Given the description of an element on the screen output the (x, y) to click on. 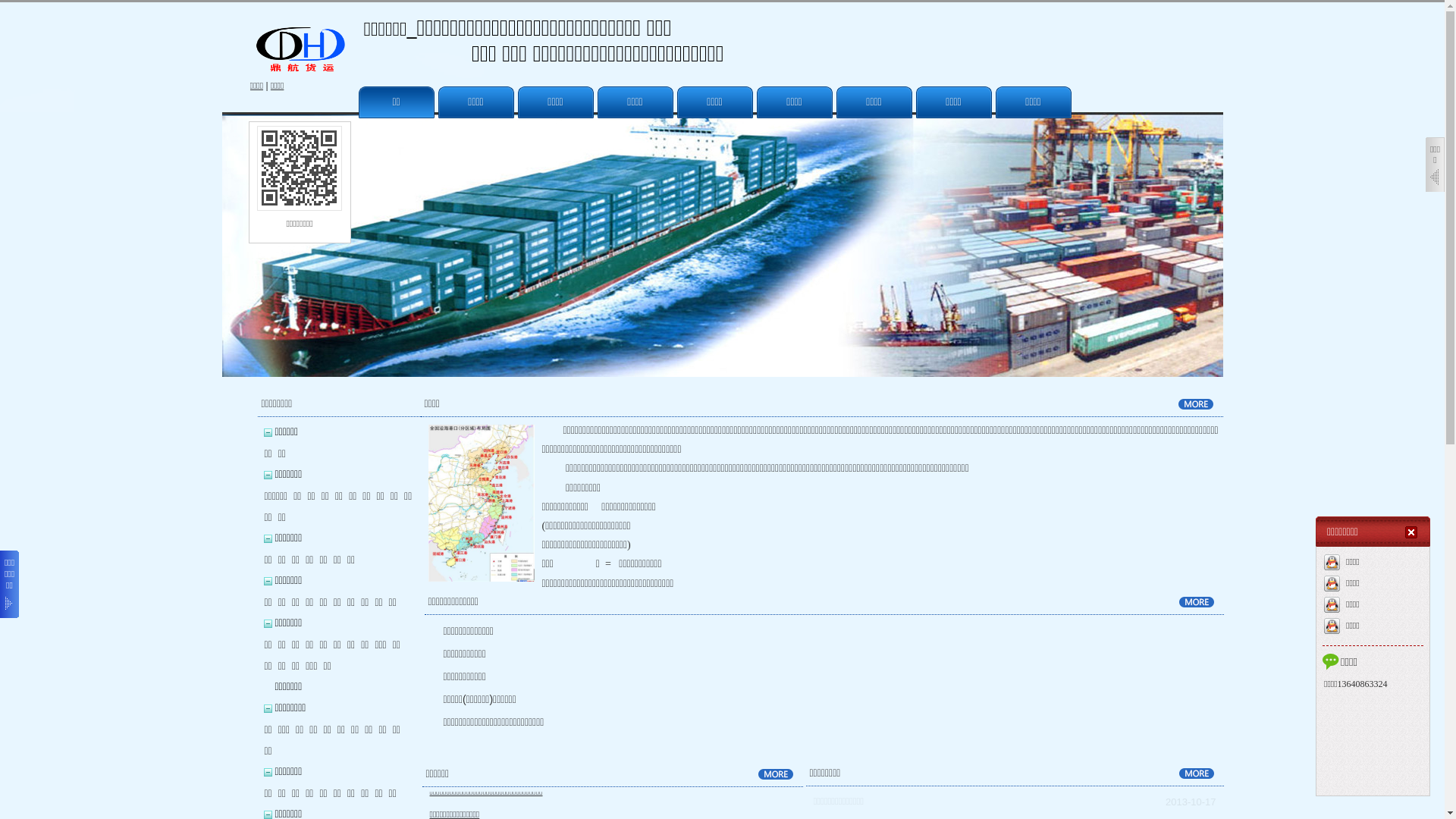
2013-11-08 Element type: text (1190, 801)
| Element type: text (266, 85)
54 Element type: hover (480, 502)
  Element type: text (1412, 531)
